Given the description of an element on the screen output the (x, y) to click on. 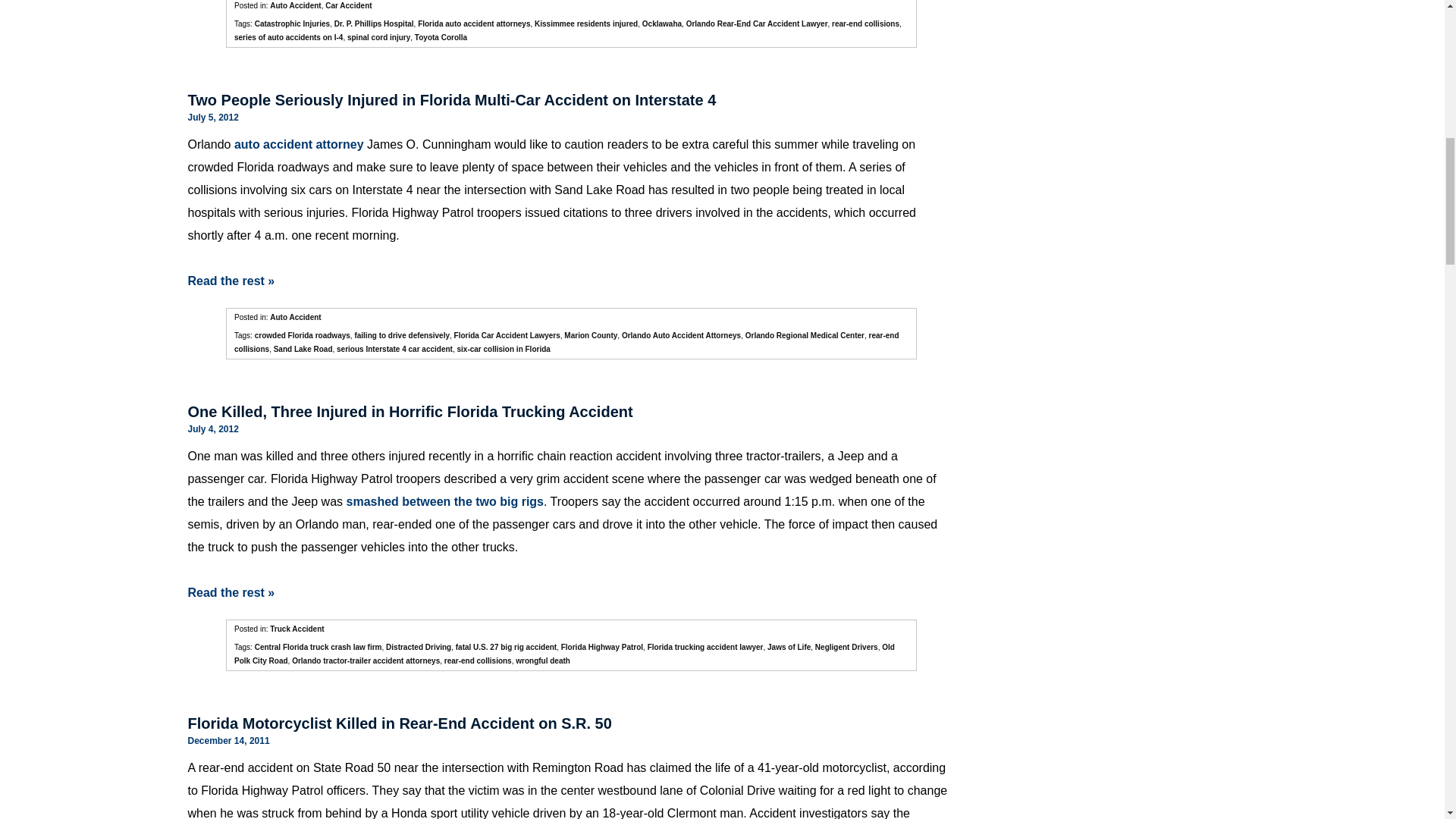
Florida Motorcyclist Killed in Rear-End Accident on S.R. 50 (399, 723)
